Given the description of an element on the screen output the (x, y) to click on. 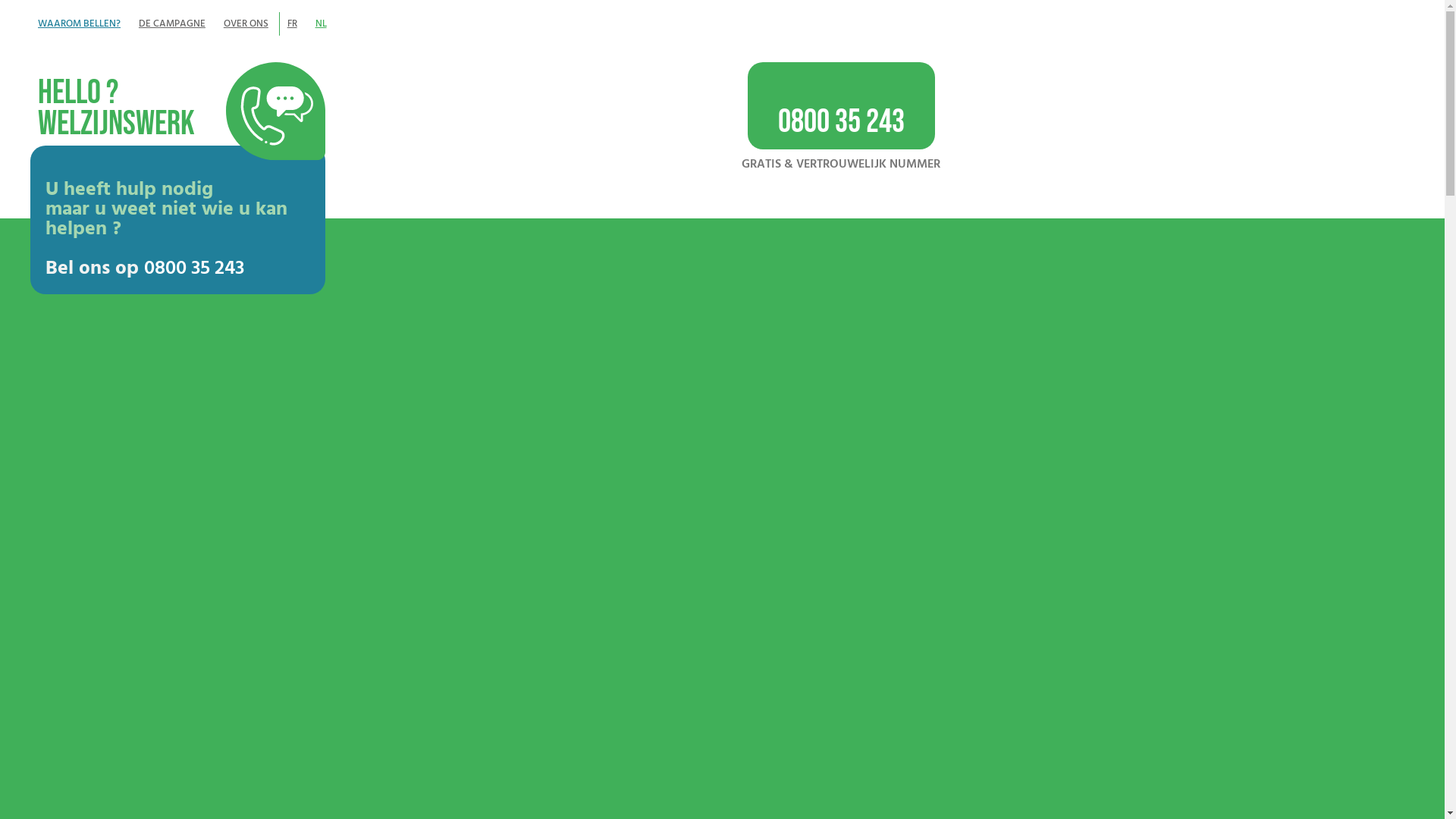
NL Element type: text (320, 23)
WAAROM BELLEN? Element type: text (79, 23)
0800 35 243 Element type: text (841, 105)
DE CAMPAGNE Element type: text (172, 23)
FR Element type: text (291, 23)
OVER ONS Element type: text (246, 23)
0800 35 243 Element type: text (194, 268)
